Given the description of an element on the screen output the (x, y) to click on. 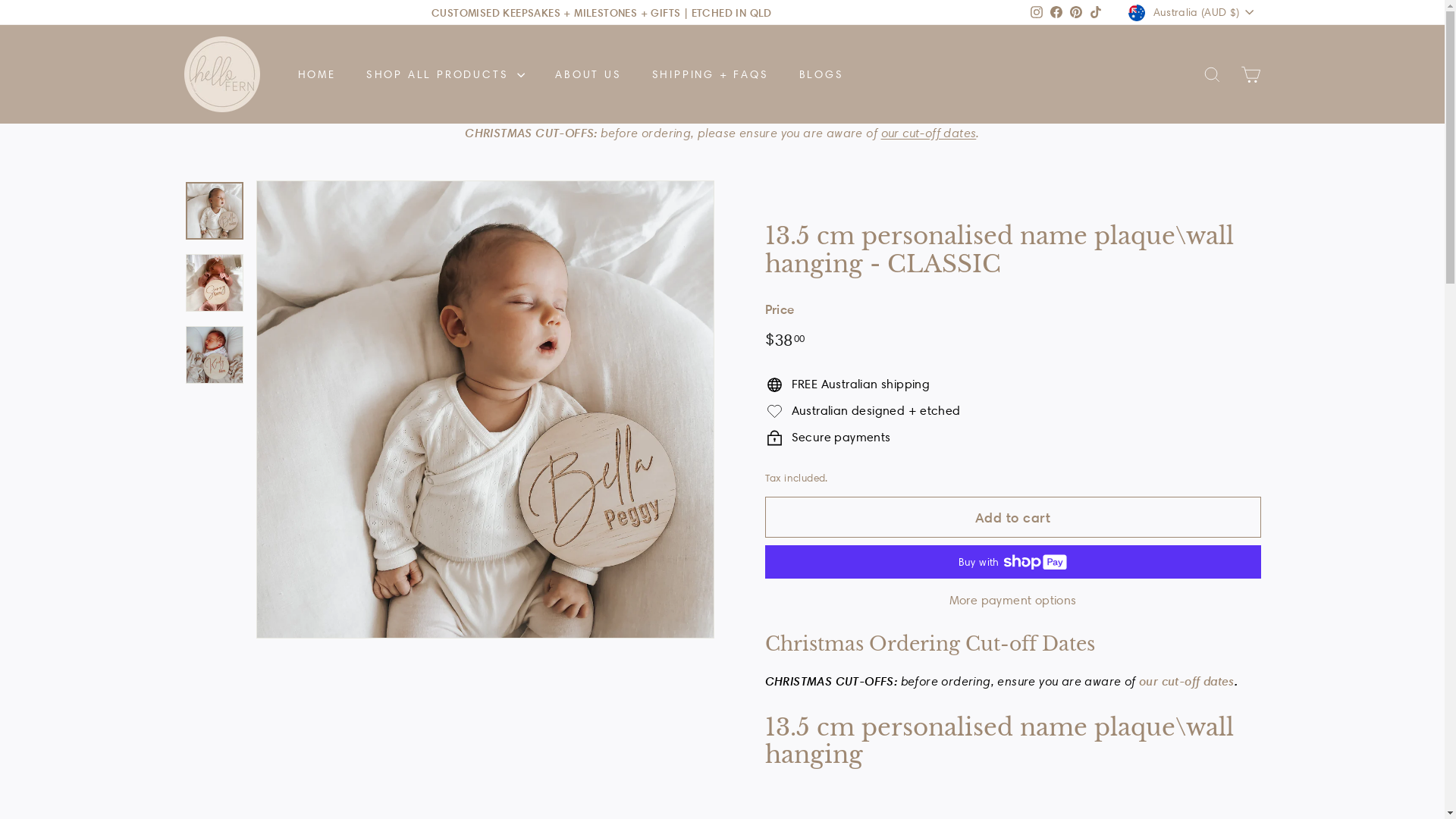
More payment options Element type: text (1012, 600)
our cut-off dates Element type: text (1186, 680)
ABOUT US Element type: text (587, 74)
SHIPPING + FAQS Element type: text (710, 74)
Facebook Element type: text (1056, 11)
SEARCH Element type: text (1211, 73)
Pinterest Element type: text (1075, 11)
our cut-off dates Element type: text (928, 132)
BLOGS Element type: text (821, 74)
HOME Element type: text (316, 74)
Add to cart Element type: text (1012, 516)
TikTok Element type: text (1095, 11)
CART Element type: text (1250, 73)
Australia (AUD $) Element type: text (1194, 12)
instagram
Instagram Element type: text (1036, 11)
